Given the description of an element on the screen output the (x, y) to click on. 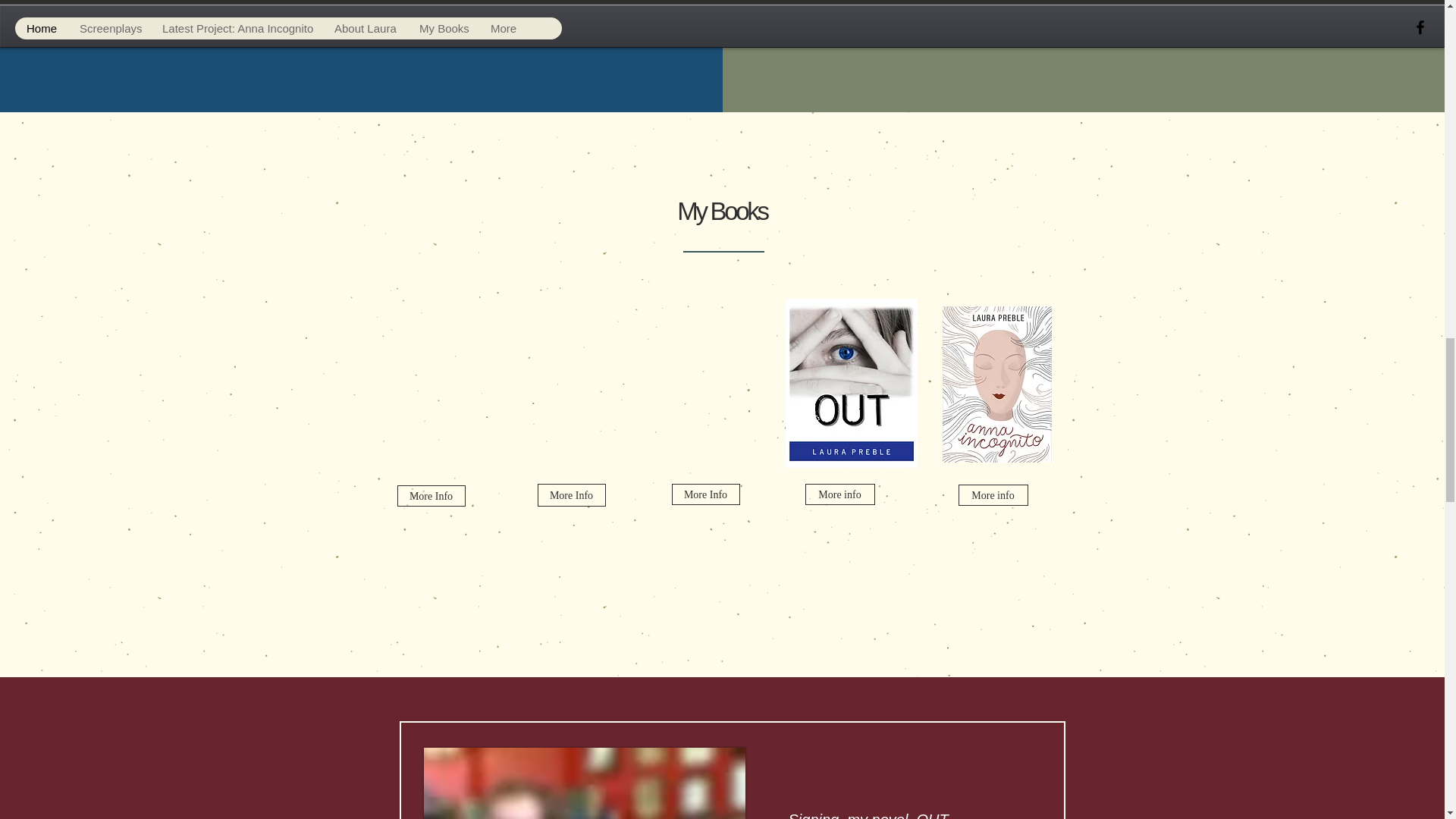
More info (992, 495)
More Info (571, 495)
More Info (705, 494)
More info (840, 494)
More Info (431, 495)
